Given the description of an element on the screen output the (x, y) to click on. 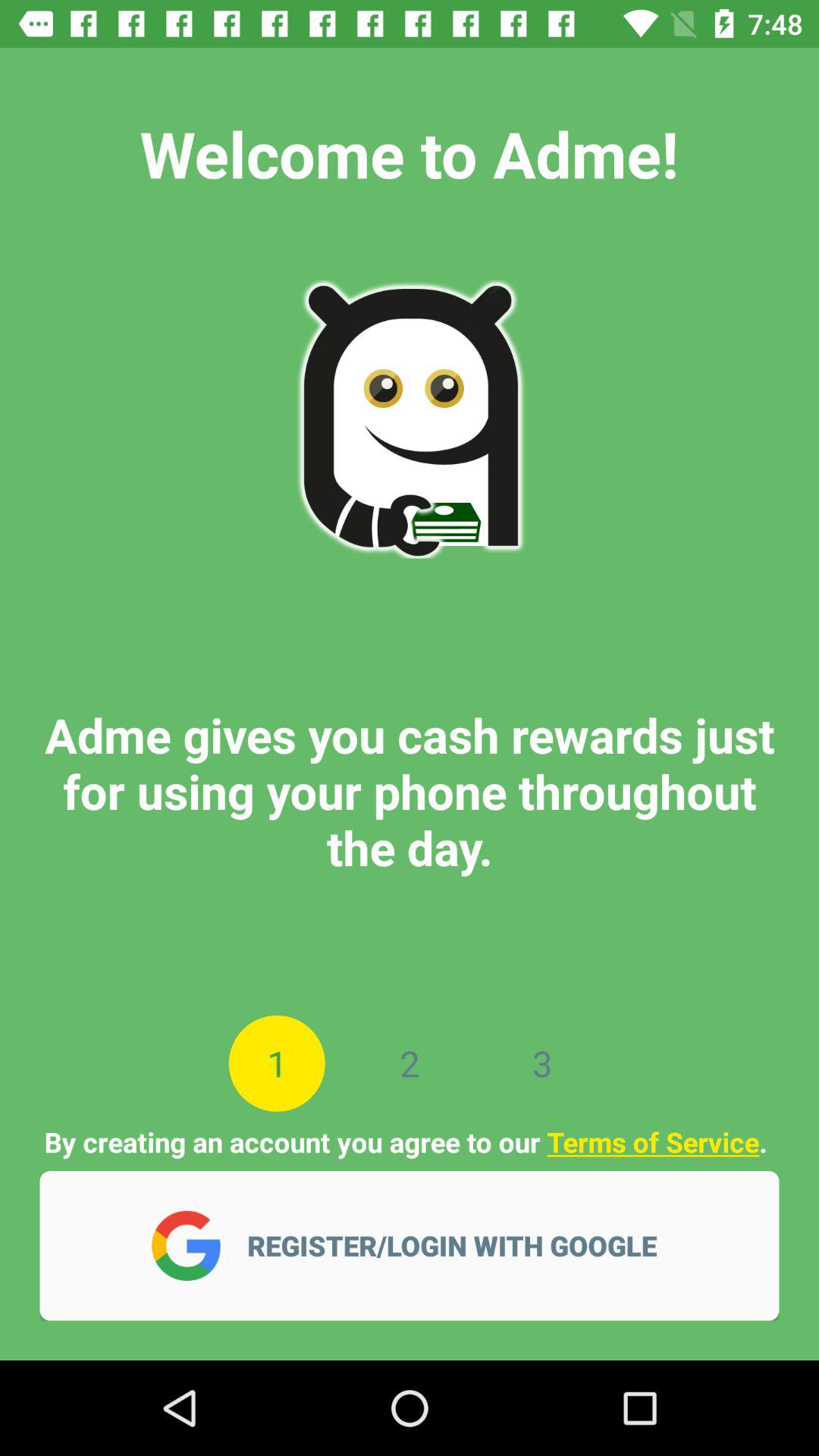
click item above by creating an item (276, 1063)
